Given the description of an element on the screen output the (x, y) to click on. 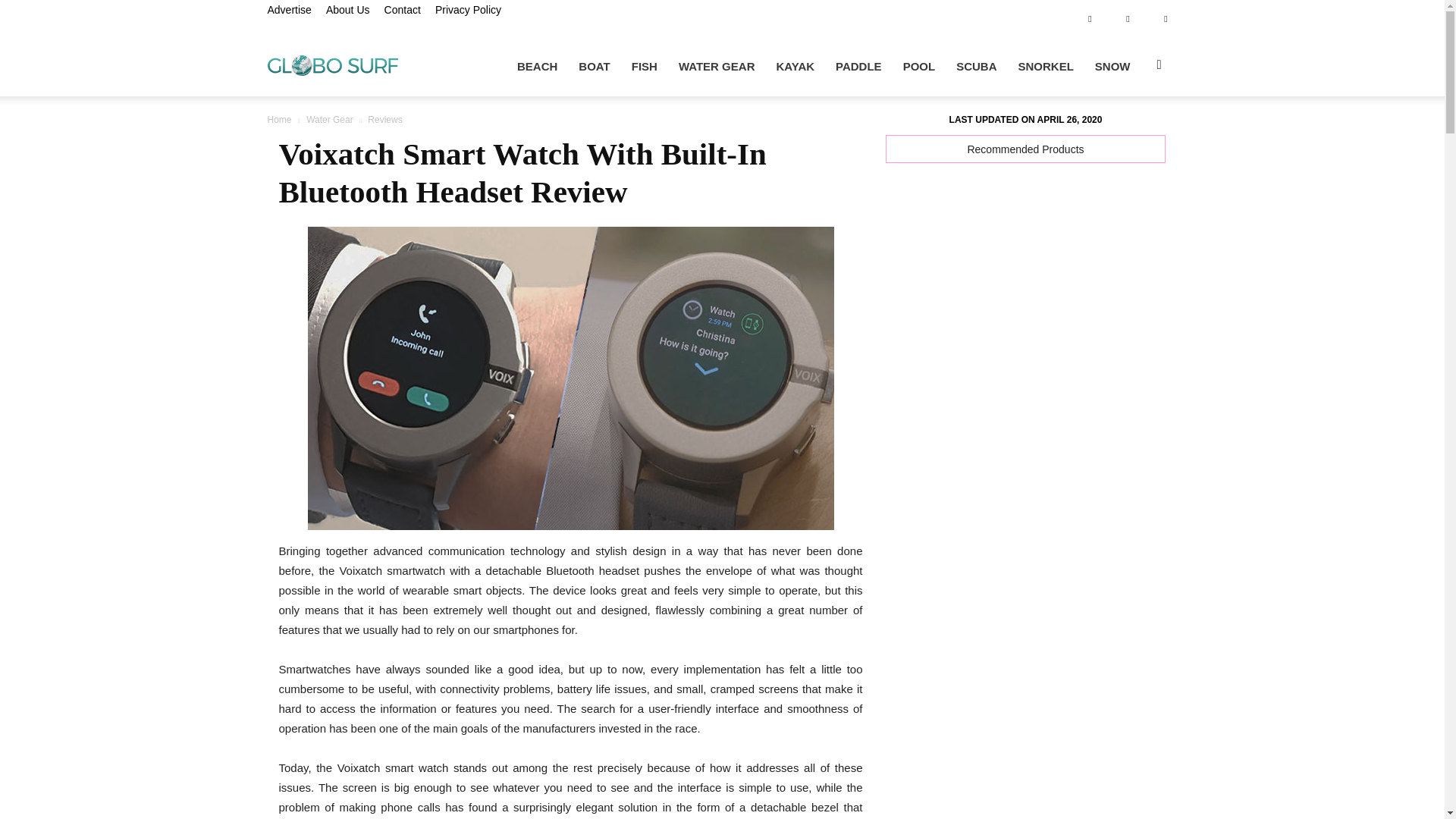
About Us (347, 9)
Globo Surf (331, 64)
View all posts in Reviews (384, 119)
BEACH (536, 66)
WATER GEAR (716, 66)
Privacy Policy (467, 9)
View all posts in Water Gear (330, 119)
Advertise (288, 9)
Contact (402, 9)
